Given the description of an element on the screen output the (x, y) to click on. 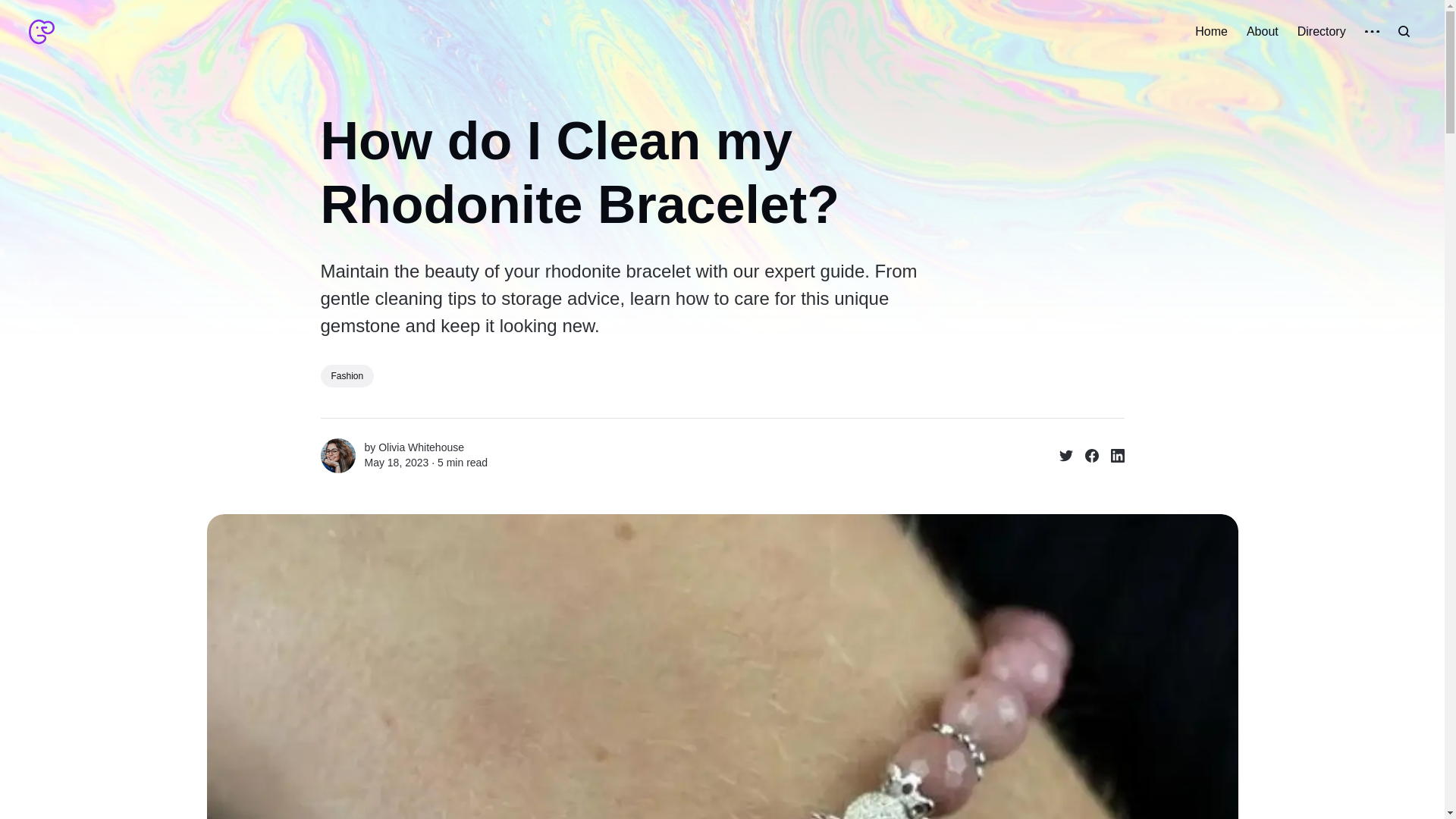
Olivia Whitehouse (421, 447)
Home (1211, 31)
About (1262, 31)
Directory (1321, 31)
Fashion (347, 375)
